Given the description of an element on the screen output the (x, y) to click on. 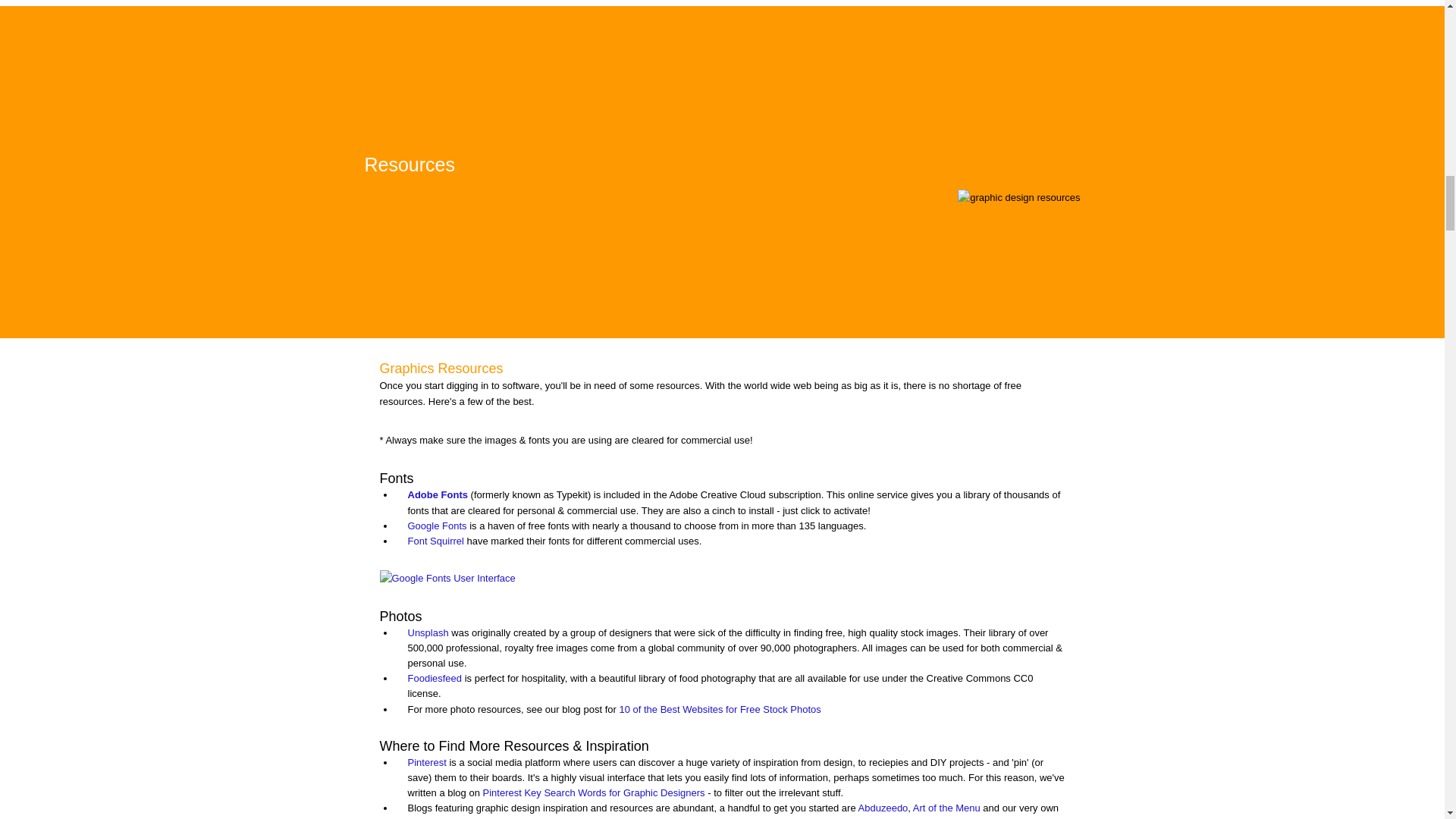
Unsplash (427, 632)
Adobe Fonts (437, 494)
Font Squirrel (435, 541)
Art of the Menu (945, 808)
Abduzeedo (883, 808)
Distil blog (428, 818)
Pinterest (426, 762)
10 of the Best Websites for Free Stock Photos (719, 708)
Pinterest Key Search Words for Graphic Designers (593, 792)
Foodiesfeed (435, 677)
Google Fonts (437, 525)
